Given the description of an element on the screen output the (x, y) to click on. 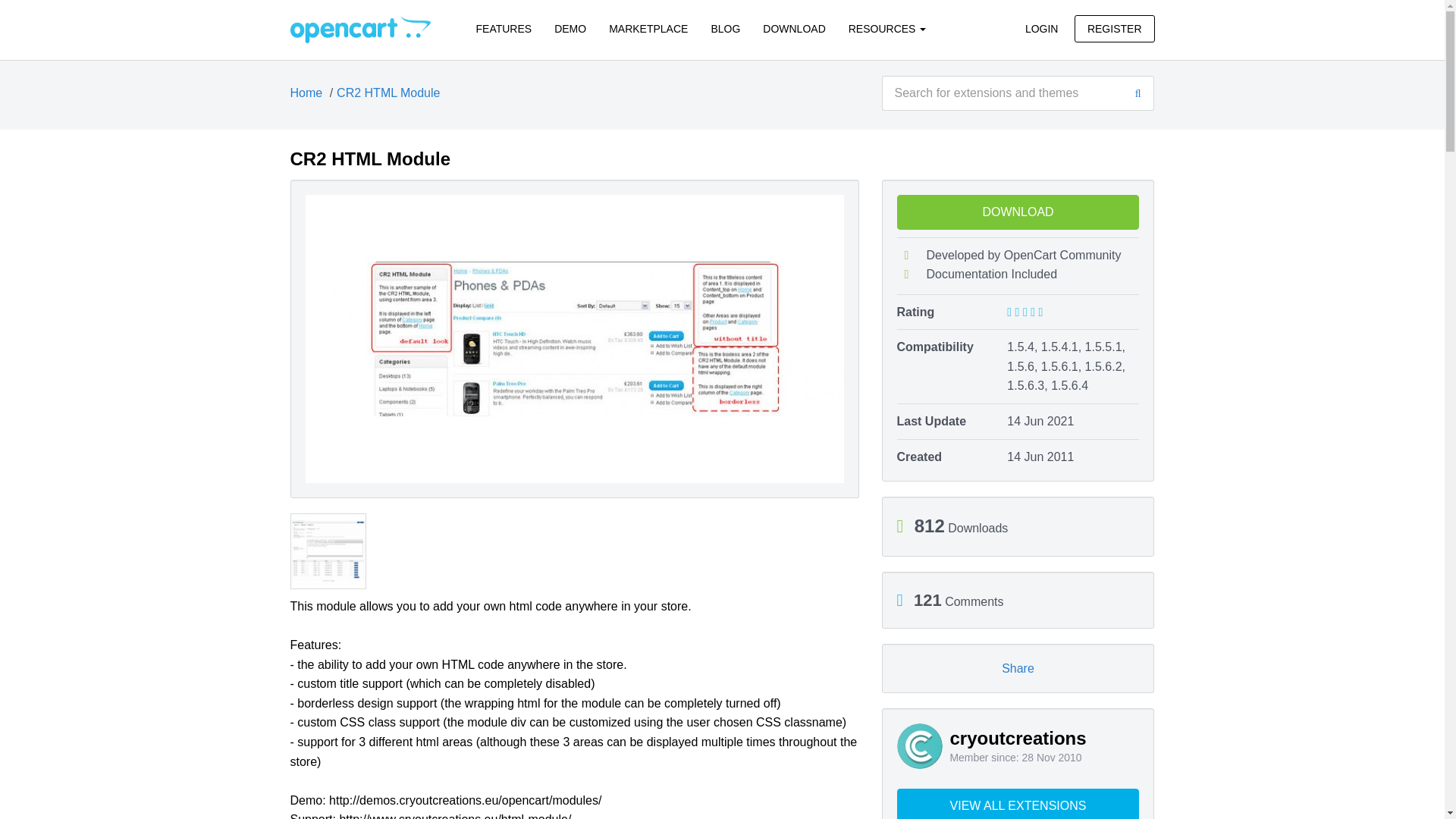
FEATURES (503, 28)
LOGIN (1041, 28)
RESOURCES (887, 28)
Home (305, 92)
CR2 HTML Module (387, 92)
OpenCart - CR2 HTML Module (359, 29)
BLOG (724, 28)
REGISTER (1114, 28)
DEMO (569, 28)
DOWNLOAD (793, 28)
MARKETPLACE (647, 28)
